Given the description of an element on the screen output the (x, y) to click on. 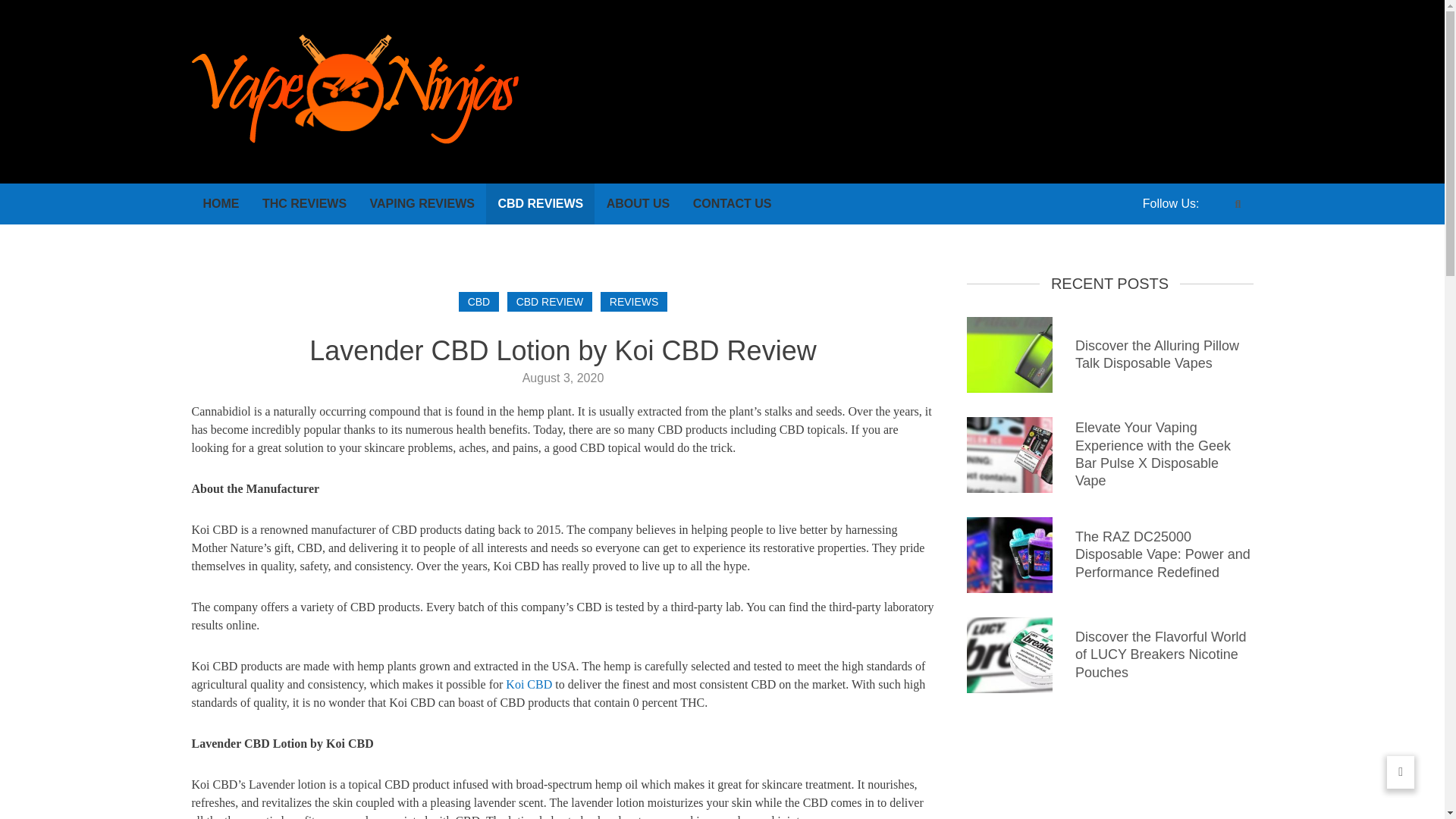
Koi CBD (528, 684)
CBD (478, 301)
VAPING REVIEWS (422, 203)
CONTACT US (732, 203)
CBD REVIEW (549, 301)
Discover the Alluring Pillow Talk Disposable Vapes (1157, 354)
HOME (220, 203)
